Given the description of an element on the screen output the (x, y) to click on. 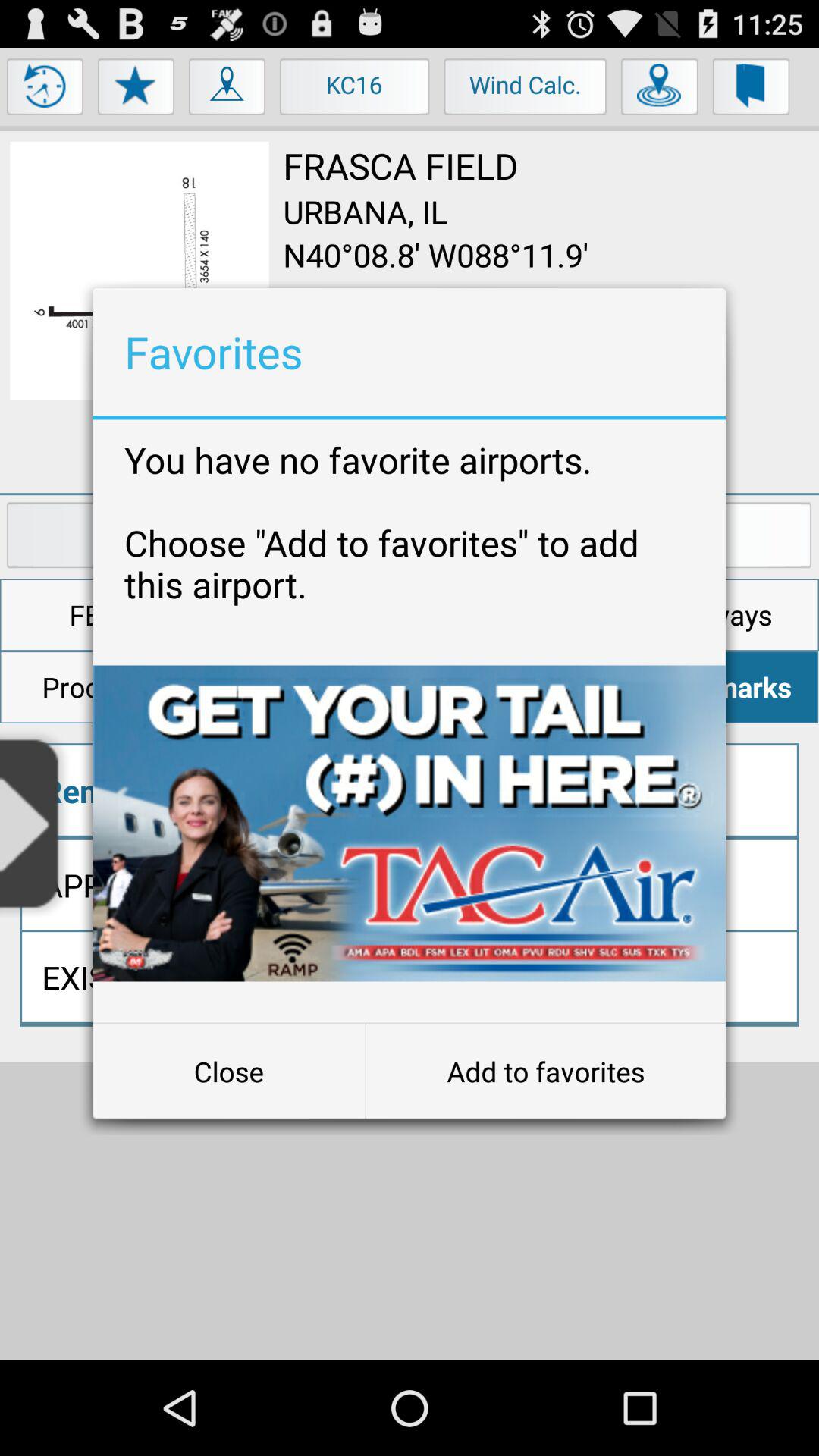
choose item below you have no (408, 823)
